Given the description of an element on the screen output the (x, y) to click on. 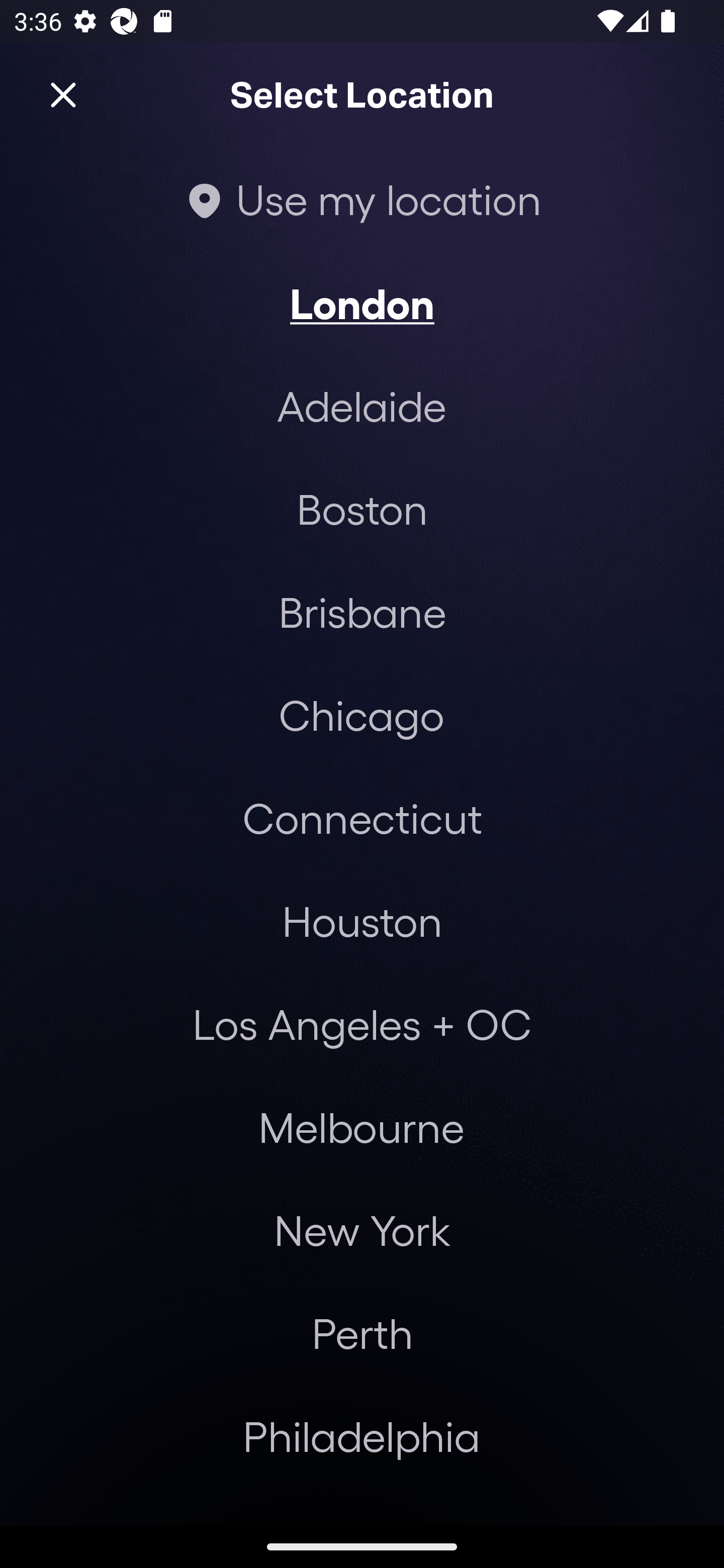
Close (62, 95)
   Use my location (362, 198)
London (361, 302)
Adelaide (361, 405)
Boston (361, 508)
Brisbane (361, 611)
Chicago (361, 714)
Connecticut (361, 817)
Houston (361, 920)
Los Angeles + OC (361, 1023)
Melbourne (361, 1127)
New York (361, 1230)
Perth (361, 1332)
Philadelphia (361, 1436)
